Given the description of an element on the screen output the (x, y) to click on. 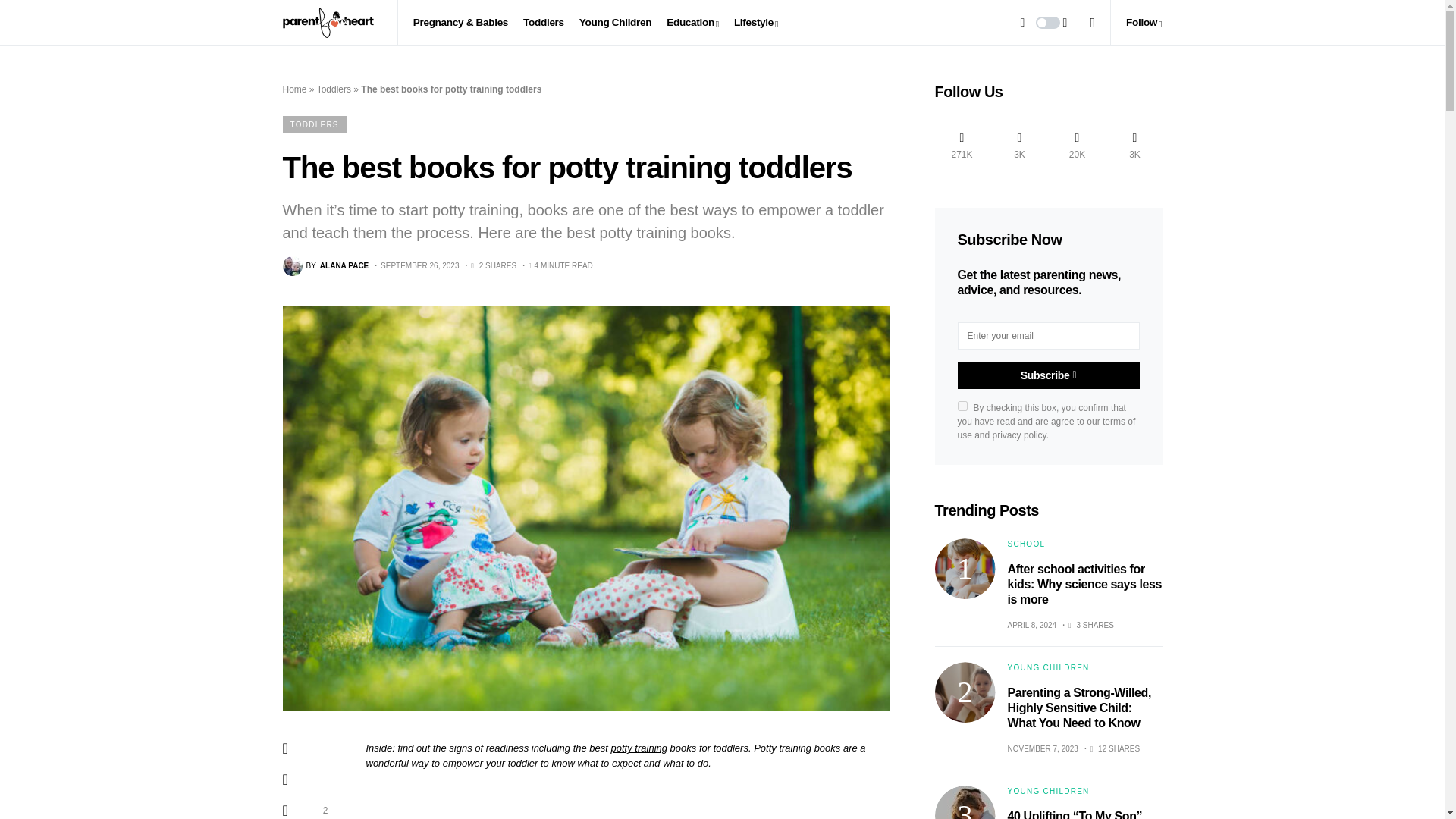
Young Children (614, 22)
View all posts by Alana Pace (325, 266)
Toddlers (543, 22)
on (961, 406)
Lifestyle (755, 22)
Education (692, 22)
